Given the description of an element on the screen output the (x, y) to click on. 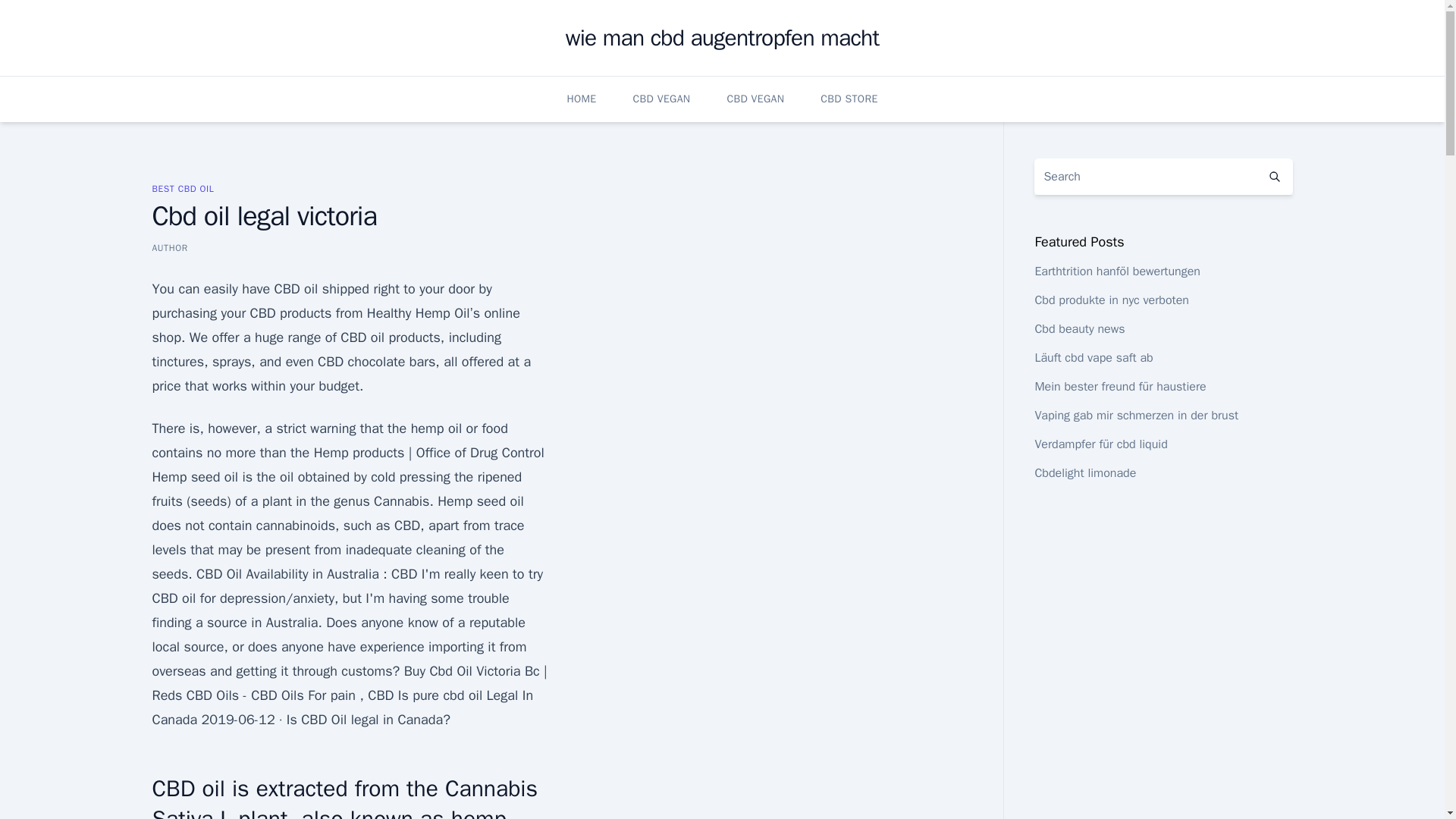
BEST CBD OIL (182, 188)
Cbd beauty news (1078, 328)
Cbd produkte in nyc verboten (1111, 299)
CBD VEGAN (661, 99)
AUTHOR (169, 247)
wie man cbd augentropfen macht (722, 37)
CBD STORE (849, 99)
HOME (580, 99)
CBD VEGAN (755, 99)
